Given the description of an element on the screen output the (x, y) to click on. 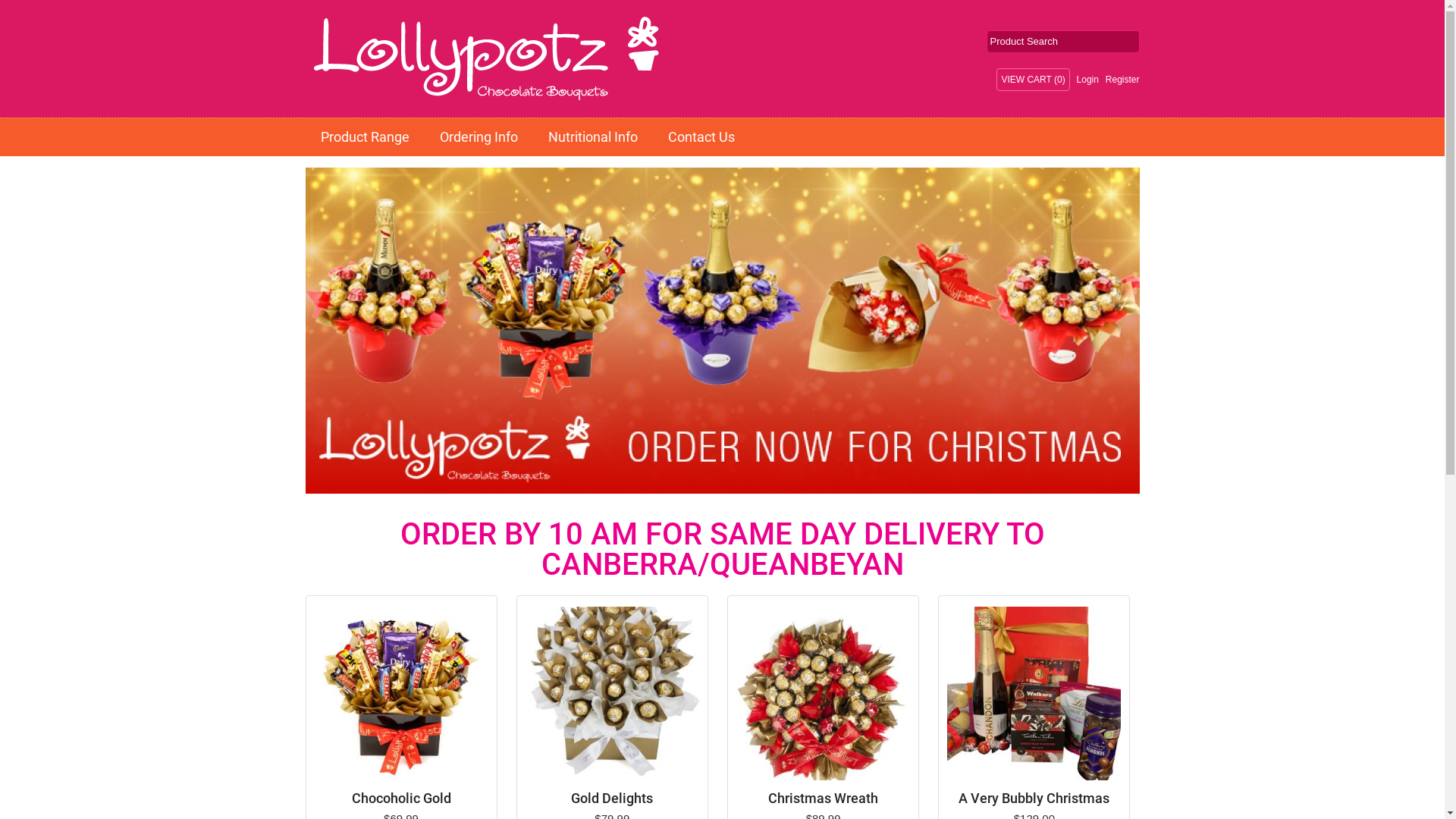
Lollypotz - Chocolate Bouquets Element type: hover (387, 58)
Contact Us Element type: text (700, 137)
A Very Bubbly Christmas Element type: text (1033, 798)
Christmas Wreath Element type: text (823, 798)
Christmas Wreath Element type: hover (823, 695)
Login Element type: text (1087, 79)
VIEW CART (0) Element type: text (1032, 79)
Gold Delights Element type: hover (612, 695)
Chocoholic Gold Element type: text (400, 798)
Nutritional Info Element type: text (592, 137)
Register Element type: text (1122, 79)
A Very Bubbly Christmas Element type: hover (1033, 695)
Product Range Element type: text (363, 137)
Ordering Info Element type: text (478, 137)
Chocoholic Gold Element type: hover (400, 695)
Gold Delights Element type: text (612, 798)
